Given the description of an element on the screen output the (x, y) to click on. 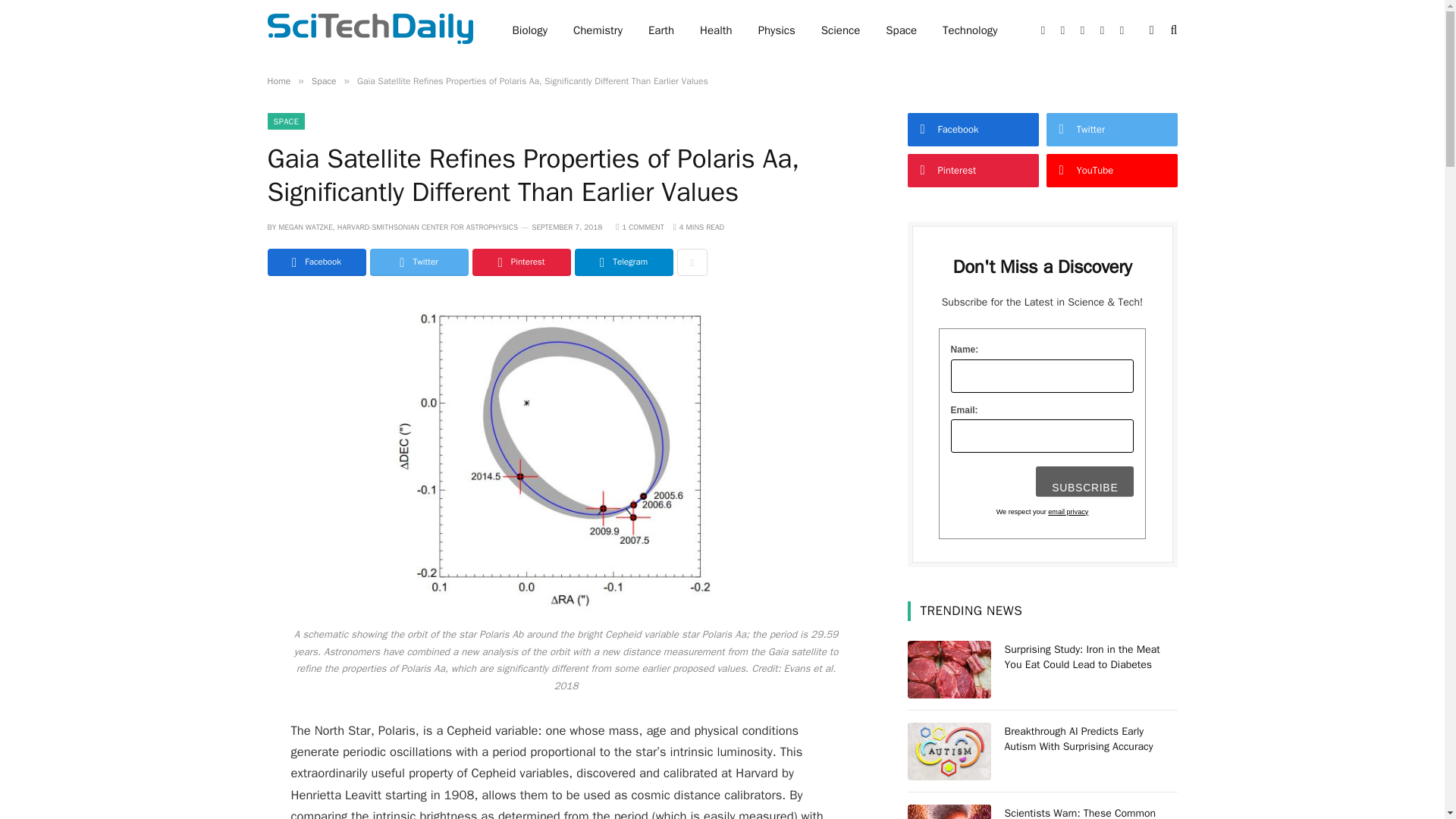
Chemistry (597, 30)
SciTechDaily (368, 30)
Biology (529, 30)
Space (901, 30)
Share on Facebook (315, 262)
Technology (970, 30)
Physics (776, 30)
Home (277, 80)
Facebook (315, 262)
Telegram (623, 262)
